Given the description of an element on the screen output the (x, y) to click on. 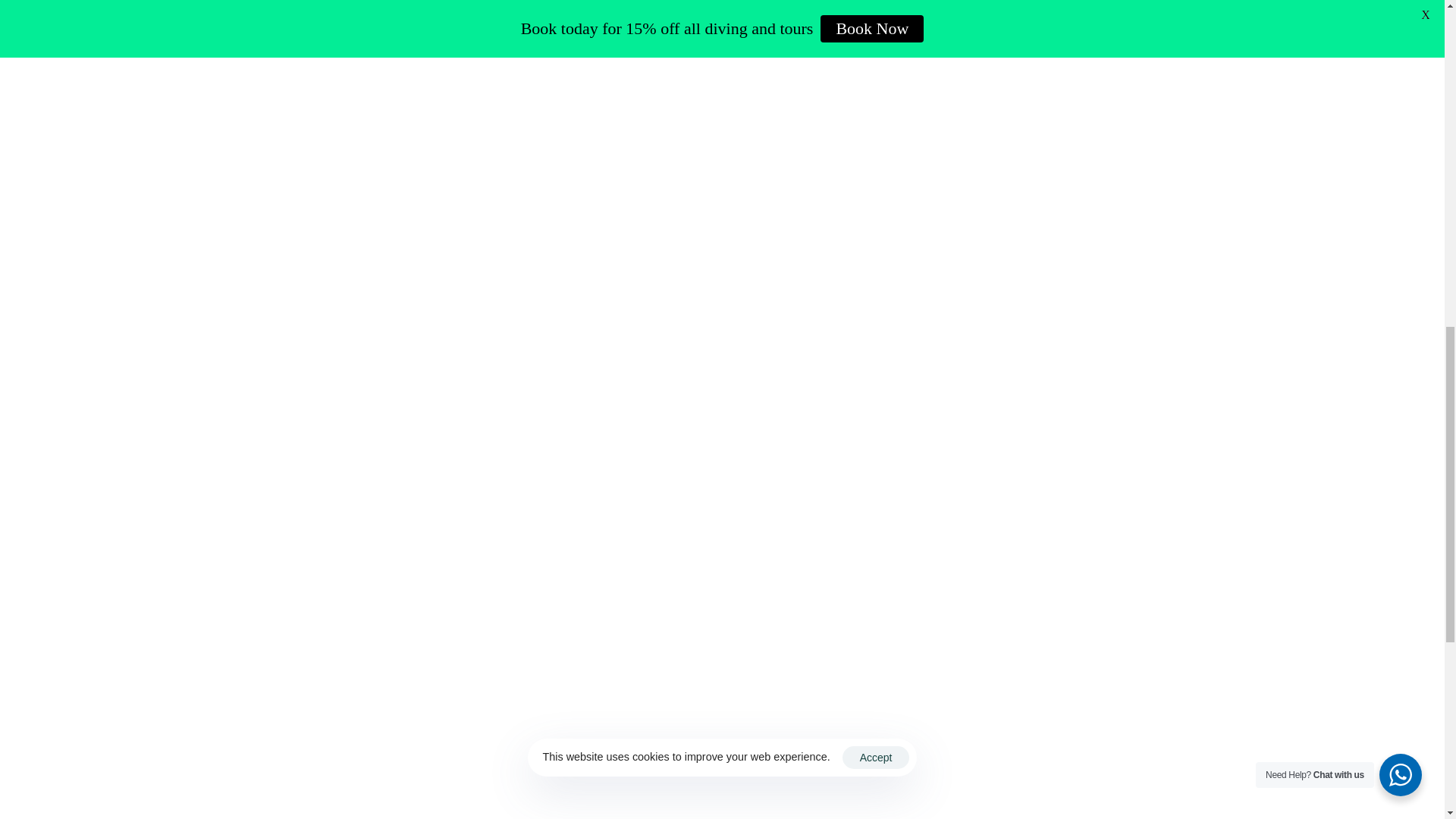
Back to Basic Courses (343, 673)
